Given the description of an element on the screen output the (x, y) to click on. 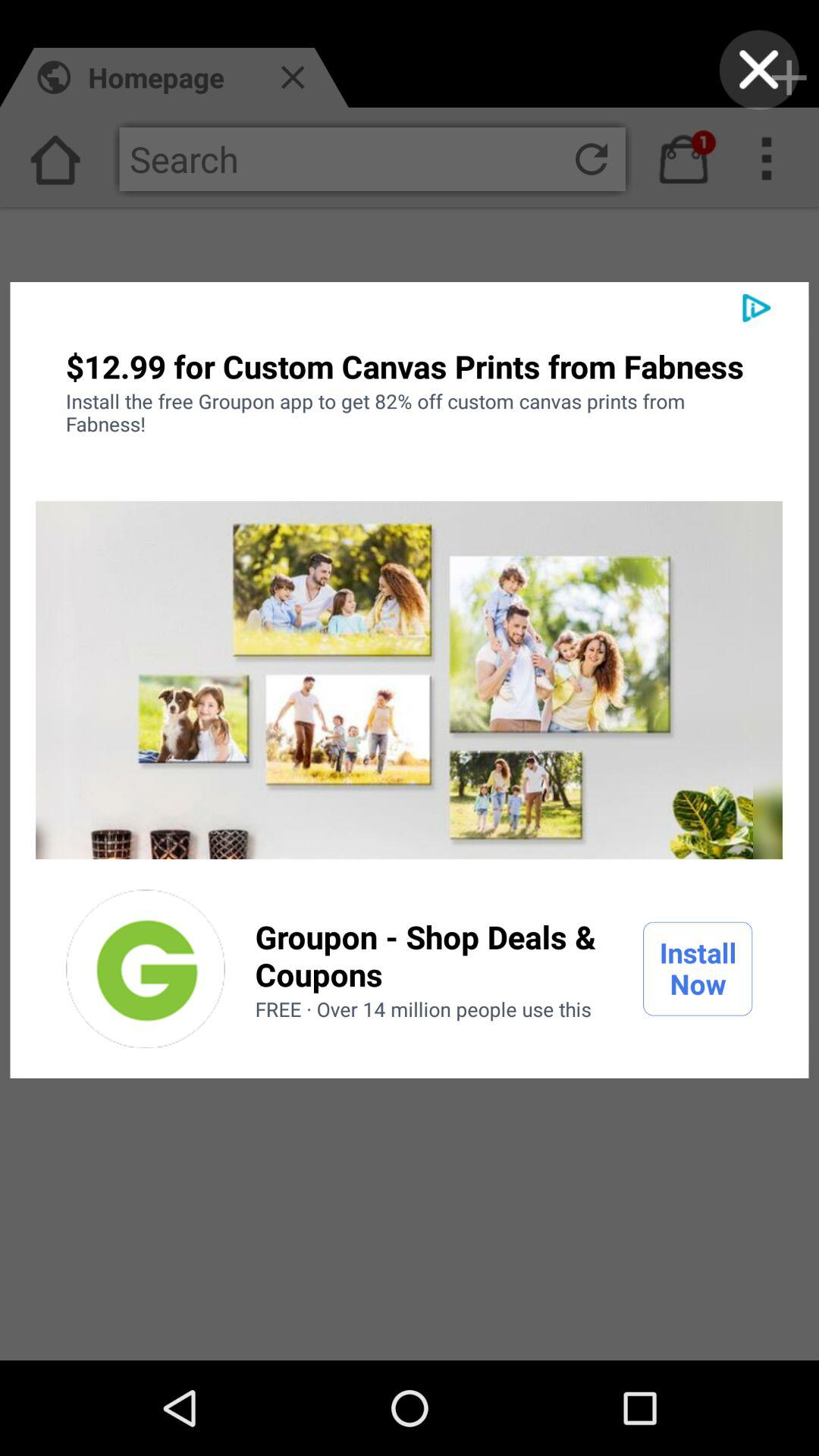
close screen option (759, 69)
